Given the description of an element on the screen output the (x, y) to click on. 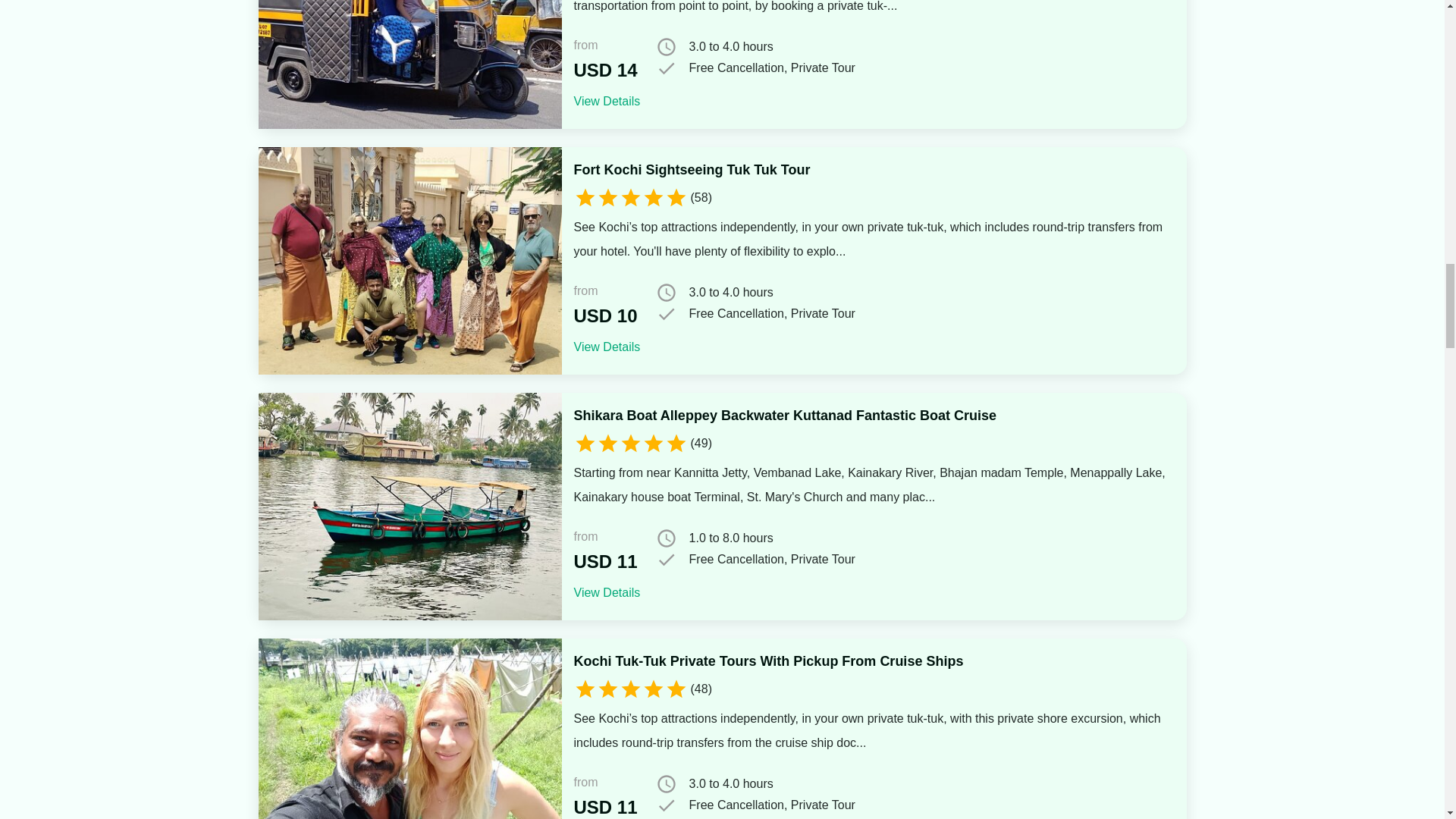
View Details (606, 101)
